Given the description of an element on the screen output the (x, y) to click on. 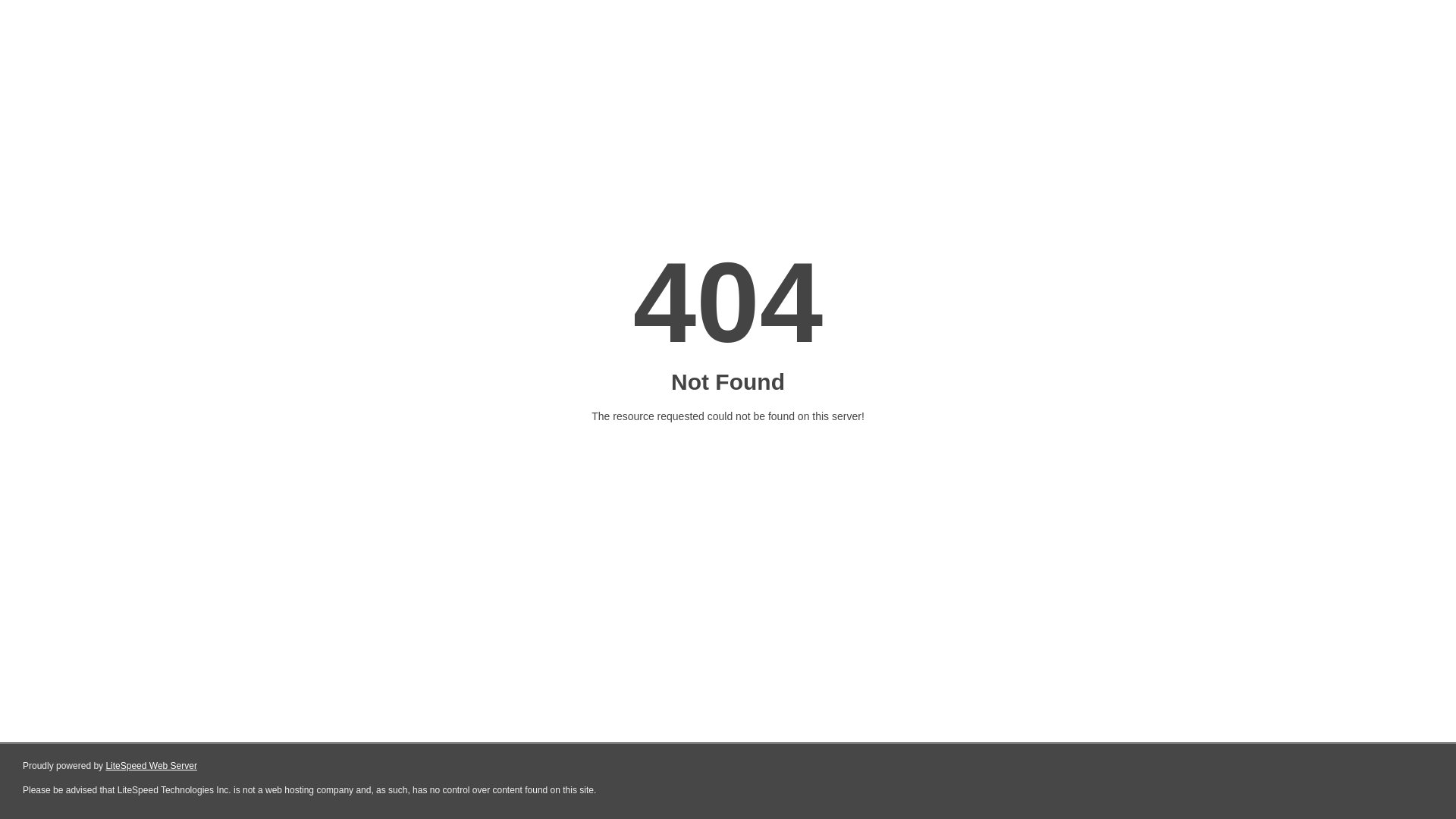
LiteSpeed Web Server Element type: text (151, 765)
